Given the description of an element on the screen output the (x, y) to click on. 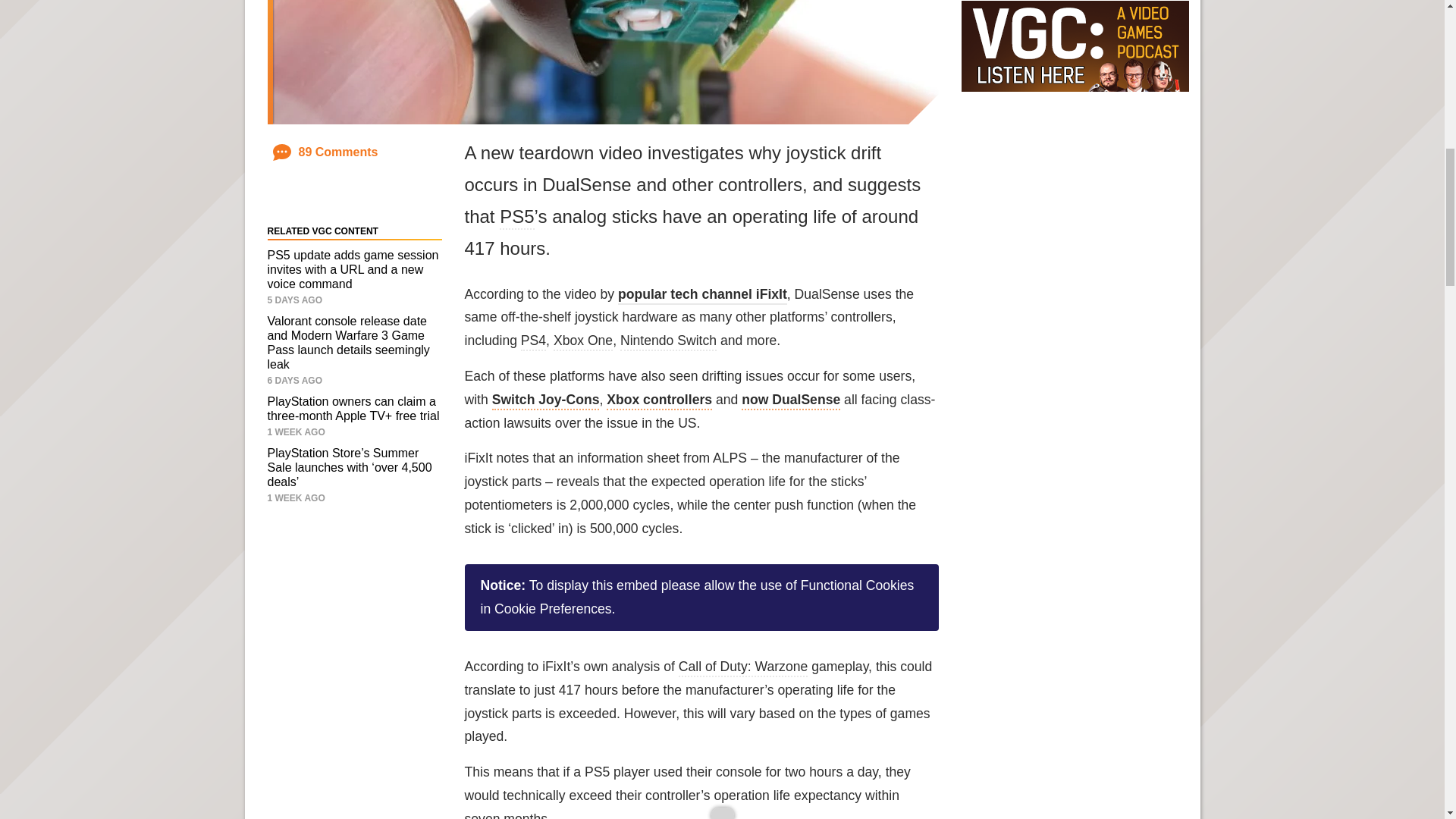
PS4 (533, 341)
Call of Duty: Warzone (743, 668)
PS5 (516, 218)
Xbox controllers (659, 401)
Xbox One (582, 341)
Cookie Preferences (553, 608)
Nintendo Switch (668, 341)
popular tech channel iFixIt (702, 295)
Switch Joy-Cons (545, 401)
now DualSense (790, 401)
